Given the description of an element on the screen output the (x, y) to click on. 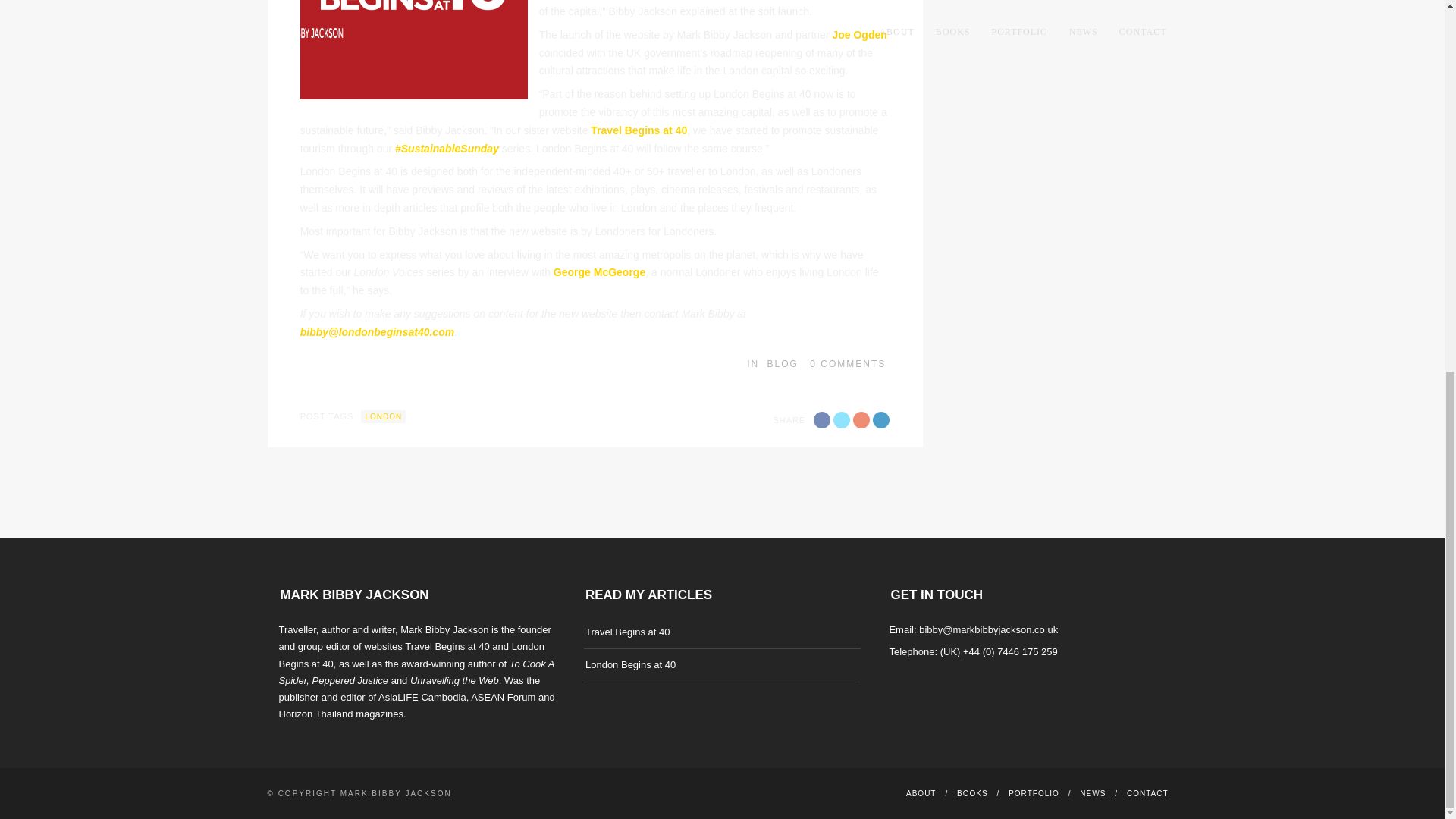
Mark Bibby Jackson on Travel Begins at 40 (627, 631)
BLOG (782, 363)
Travel Begins at 40 (627, 631)
About Mark Bibby Jackson (920, 793)
Joe Ogden (858, 34)
Twitter (841, 419)
London Begins at 40 (630, 664)
CONTACT (1147, 793)
Facebook (821, 419)
PORTFOLIO (1034, 793)
Instagram (921, 696)
BOOKS (972, 793)
LinkedIn (942, 696)
NEWS (1092, 793)
Mark Bibby Jackson on London Begins at 40 (630, 664)
